Given the description of an element on the screen output the (x, y) to click on. 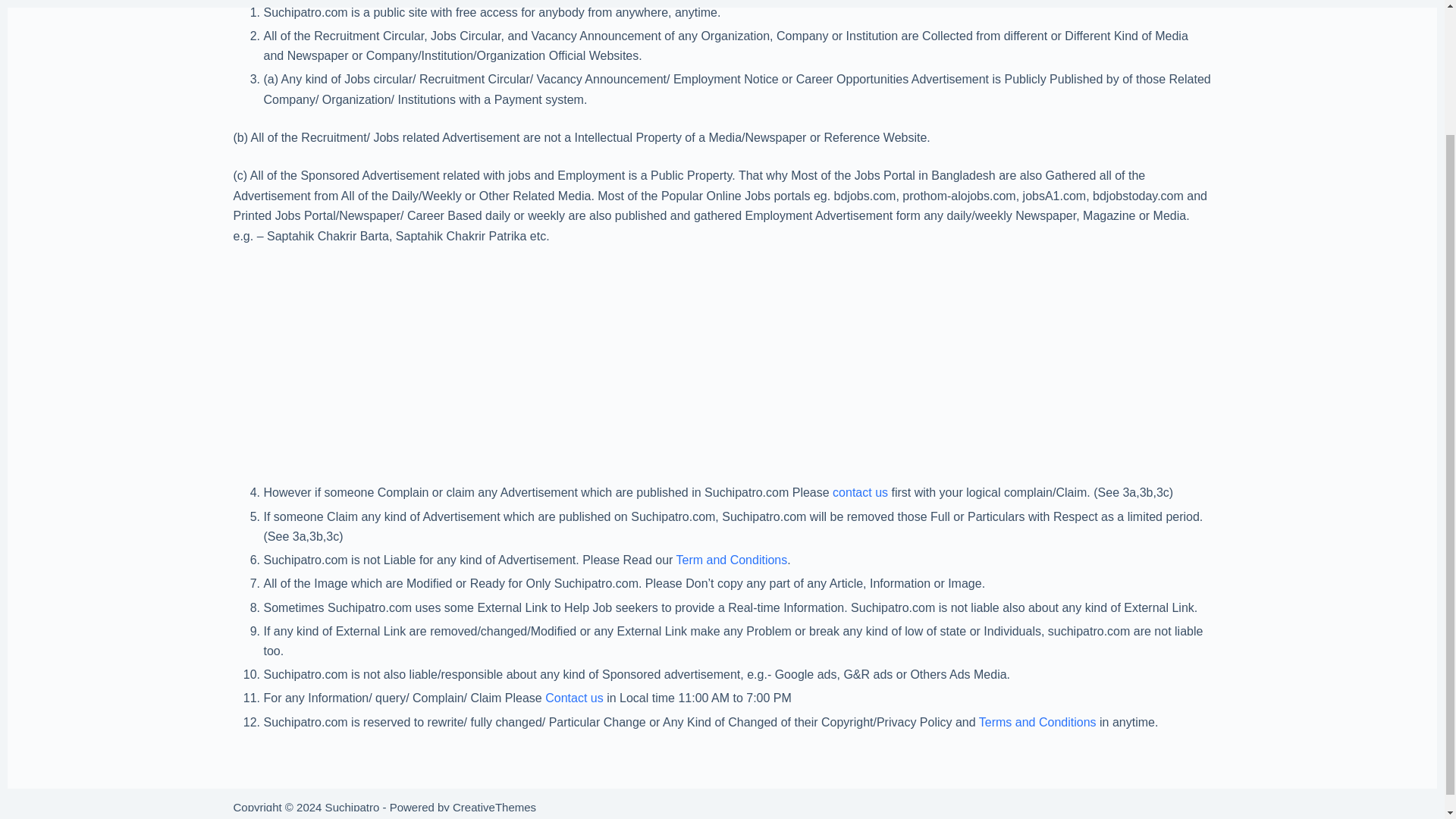
contact us (860, 492)
Term and Conditions (732, 559)
Contact us (573, 697)
Terms and Conditions (1037, 721)
